Given the description of an element on the screen output the (x, y) to click on. 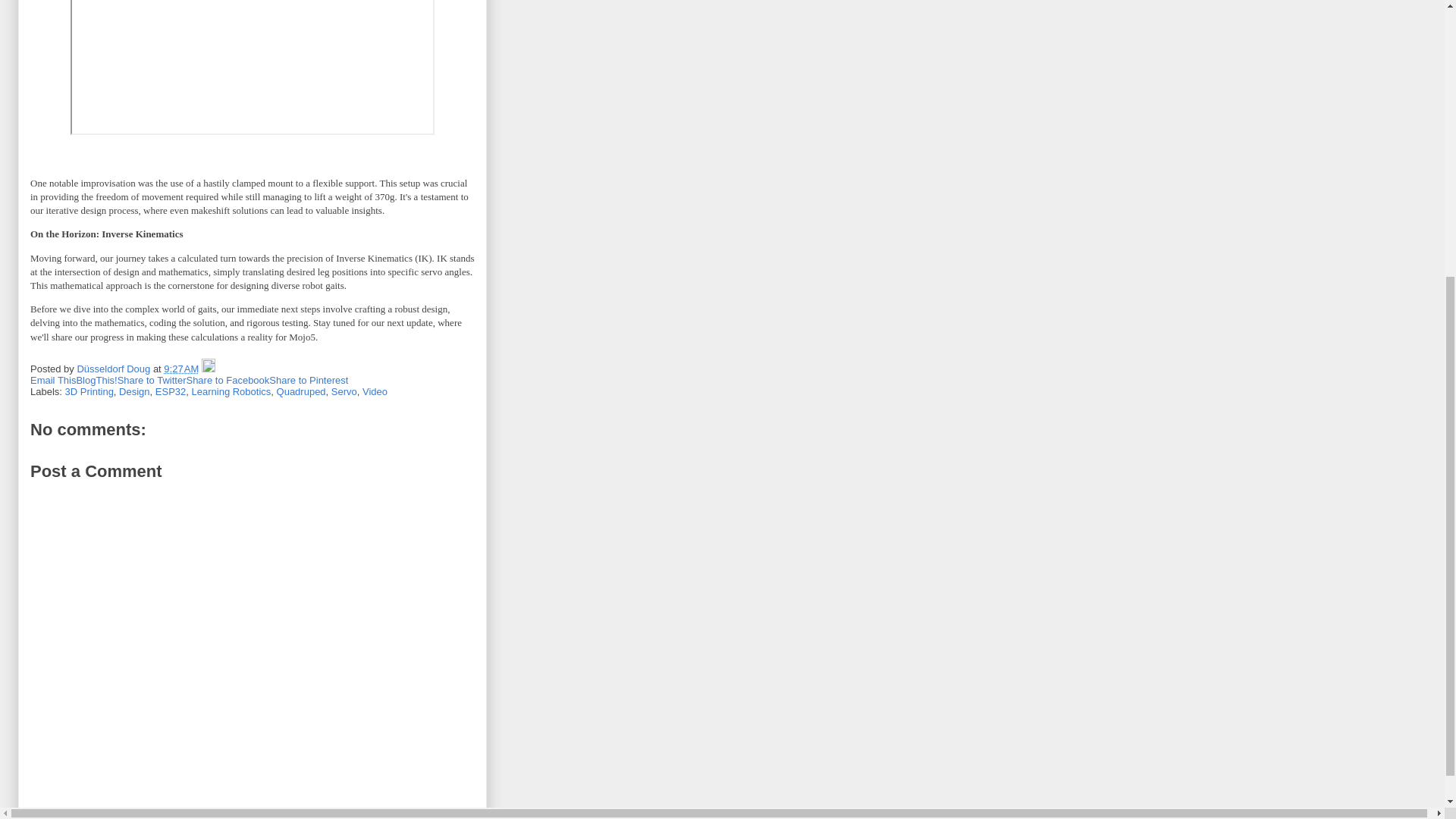
Share to Twitter (151, 379)
Email This (52, 379)
BlogThis! (95, 379)
Servo (343, 391)
Share to Pinterest (308, 379)
Email This (52, 379)
Share to Twitter (151, 379)
author profile (114, 368)
Share to Pinterest (308, 379)
BlogThis! (95, 379)
